Given the description of an element on the screen output the (x, y) to click on. 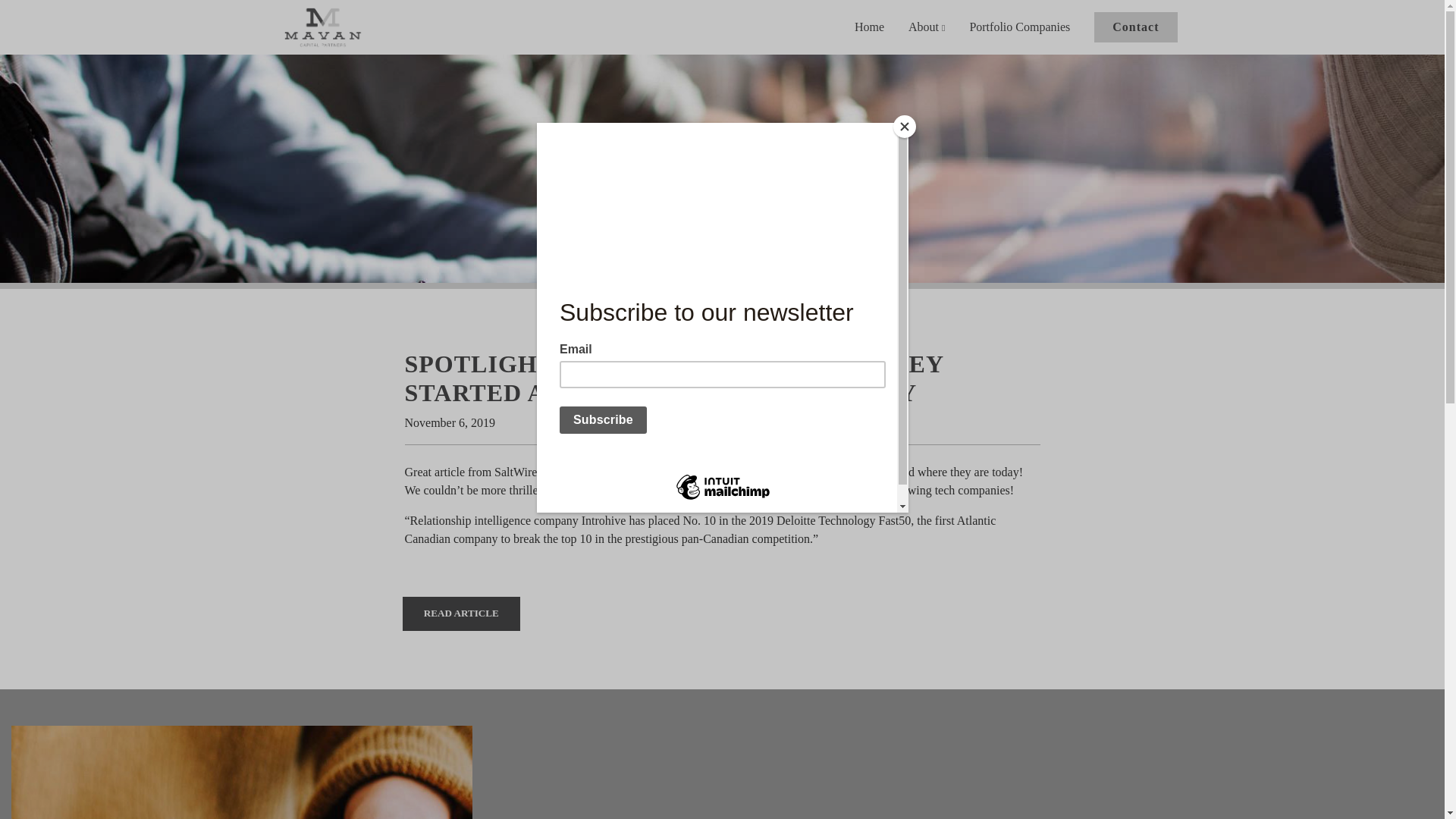
READ ARTICLE (461, 613)
Home (869, 26)
Portfolio Companies (1018, 26)
About (926, 26)
Contact (1135, 27)
